Given the description of an element on the screen output the (x, y) to click on. 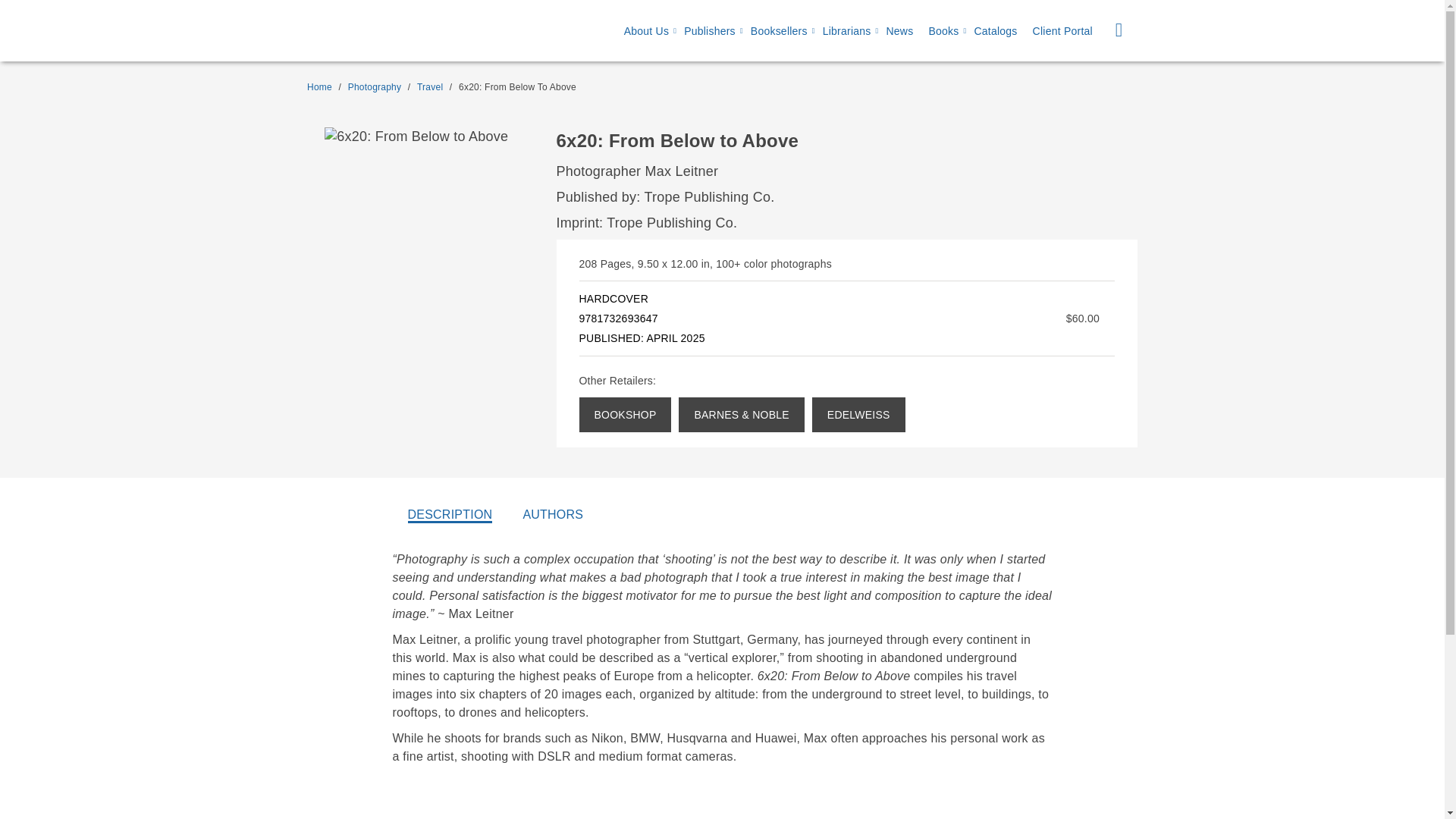
Books (943, 30)
View results for travel (429, 86)
About Us (646, 30)
Home (319, 86)
Edelweiss (858, 414)
Booksellers (779, 30)
News (898, 30)
Librarians (846, 30)
Publishers (709, 30)
Catalogs (995, 30)
